Given the description of an element on the screen output the (x, y) to click on. 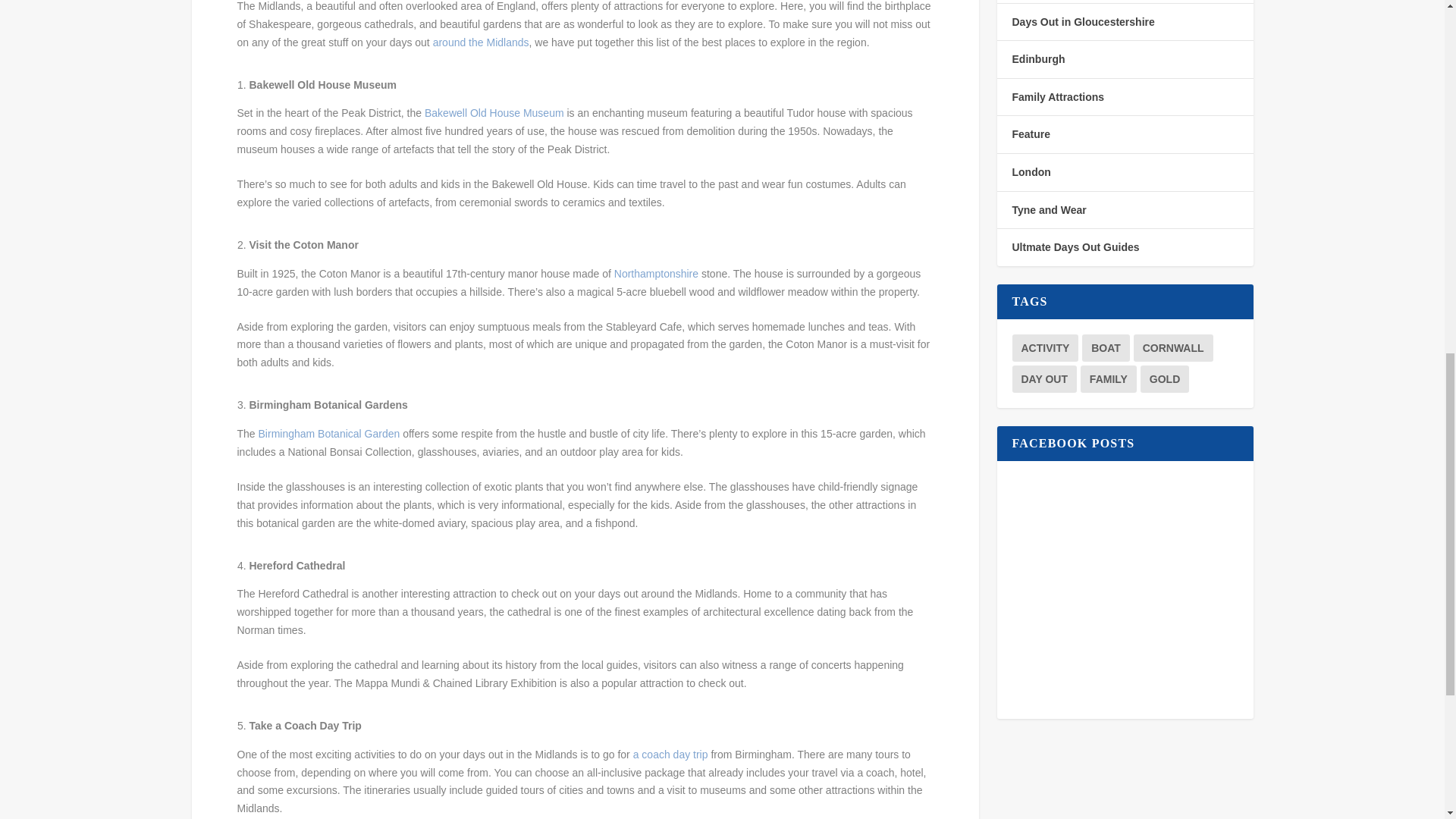
Northamptonshire (657, 273)
around the Midlands (480, 42)
a coach day trip (670, 754)
Bakewell Old House Museum (493, 112)
Birmingham Botanical Garden (329, 433)
